Given the description of an element on the screen output the (x, y) to click on. 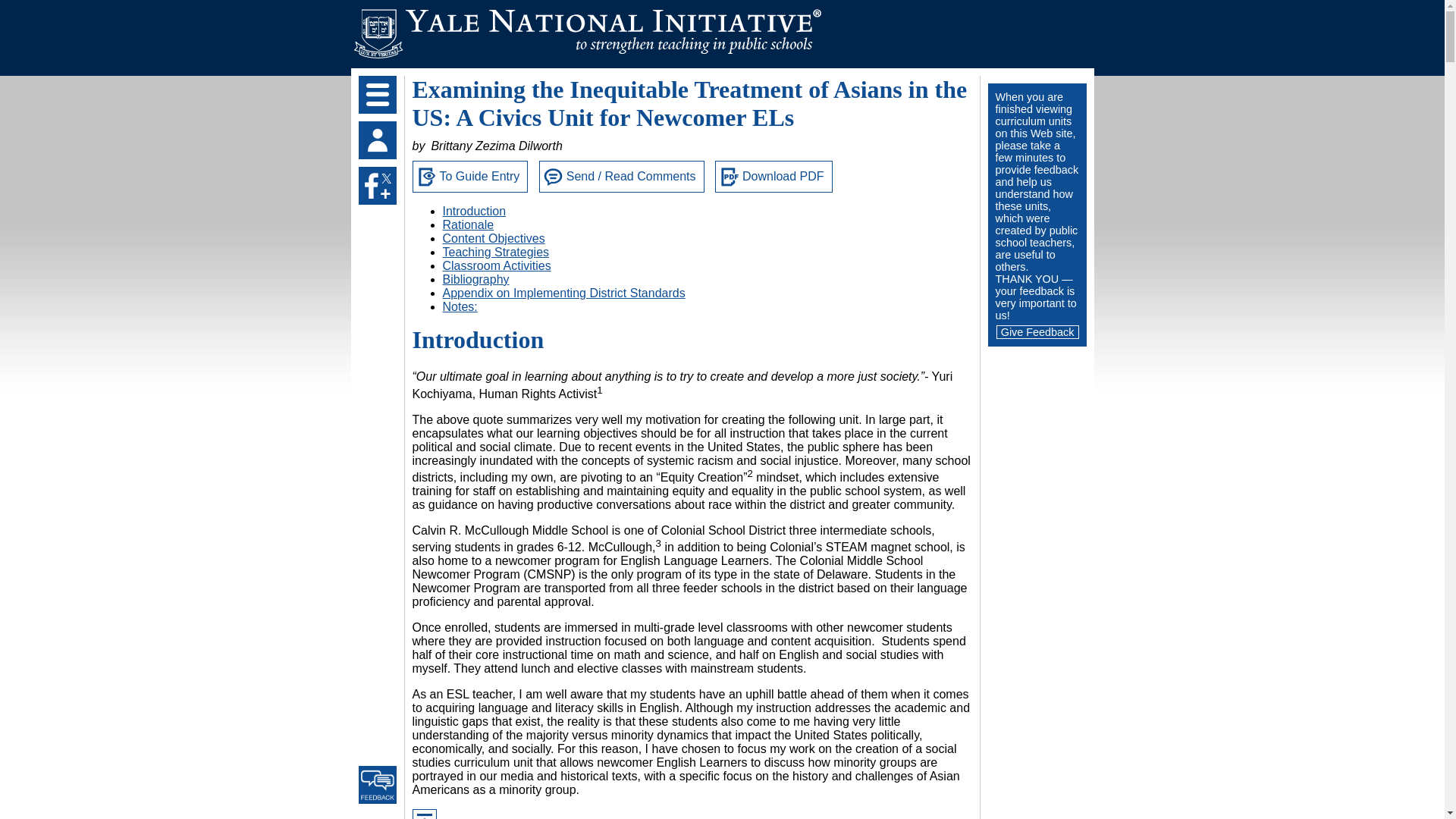
To Guide Entry (470, 176)
Rationale (468, 224)
Content Objectives (493, 237)
Teaching Strategies (496, 251)
Classroom Activities (496, 265)
Download PDF (773, 176)
Introduction (474, 210)
